Given the description of an element on the screen output the (x, y) to click on. 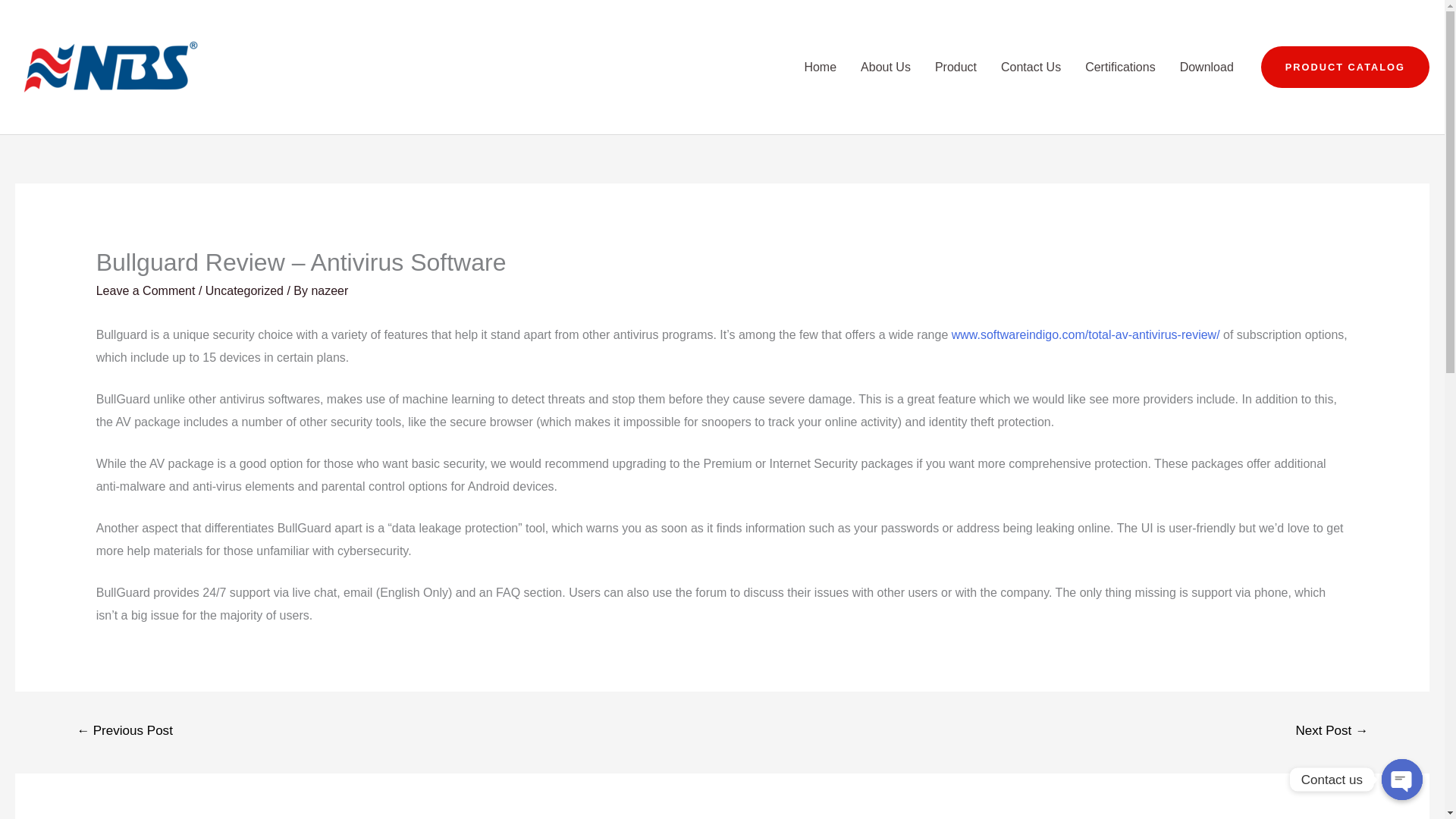
PRODUCT CATALOG (1344, 66)
Download (1206, 67)
About Us (885, 67)
Contact Us (1030, 67)
Leave a Comment (145, 290)
Uncategorized (244, 290)
View all posts by nazeer (329, 290)
Certifications (1120, 67)
Home (820, 67)
nazeer (329, 290)
